Given the description of an element on the screen output the (x, y) to click on. 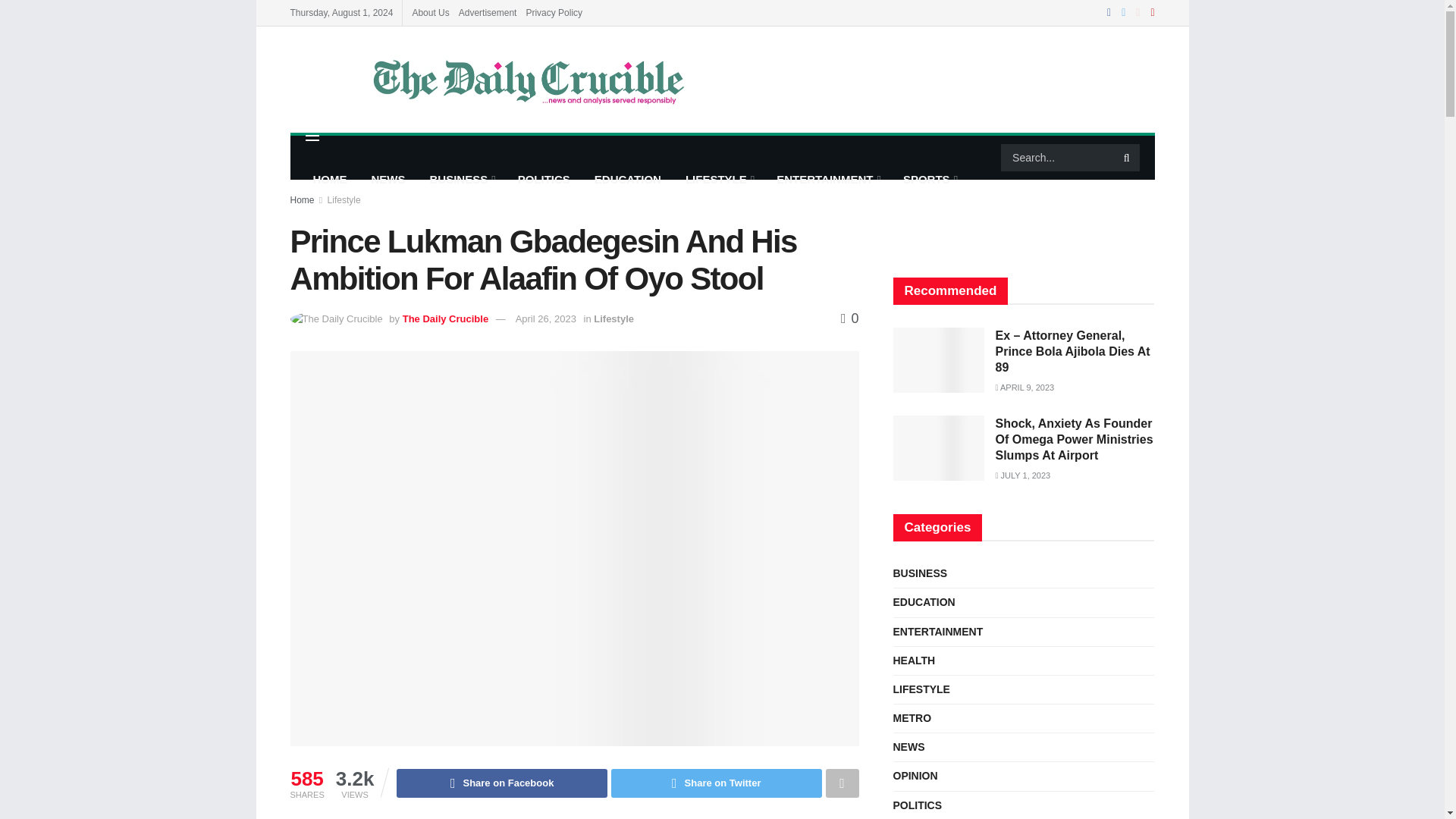
Privacy Policy (553, 12)
HOME (328, 179)
Advertisement (487, 12)
POLITICS (543, 179)
BUSINESS (460, 179)
EDUCATION (627, 179)
About Us (430, 12)
LIFESTYLE (718, 179)
NEWS (388, 179)
